Given the description of an element on the screen output the (x, y) to click on. 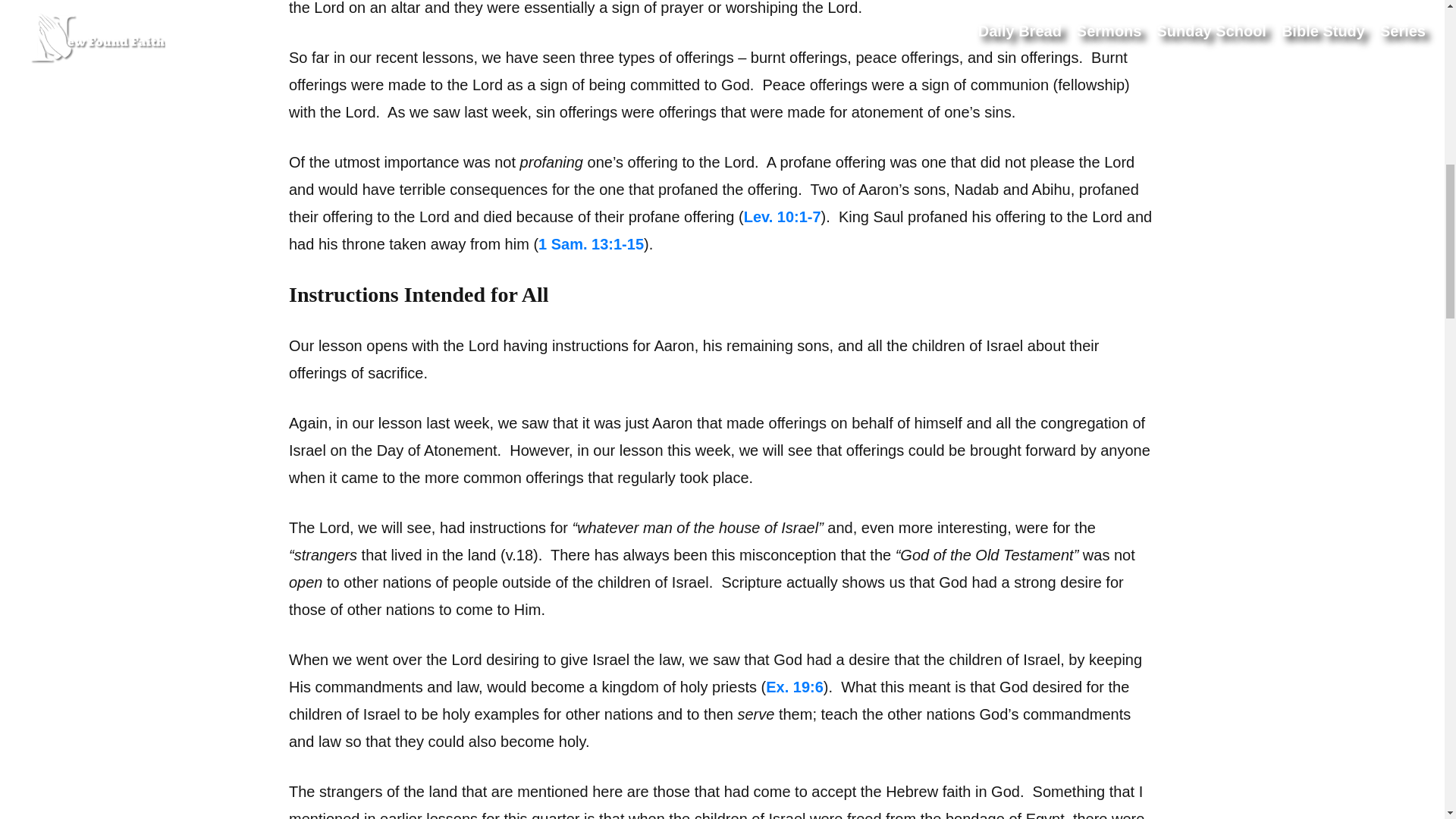
Ex. 19:6 (794, 686)
1 Sam. 13:1-15 (590, 243)
Lev. 10:1-7 (782, 216)
